Given the description of an element on the screen output the (x, y) to click on. 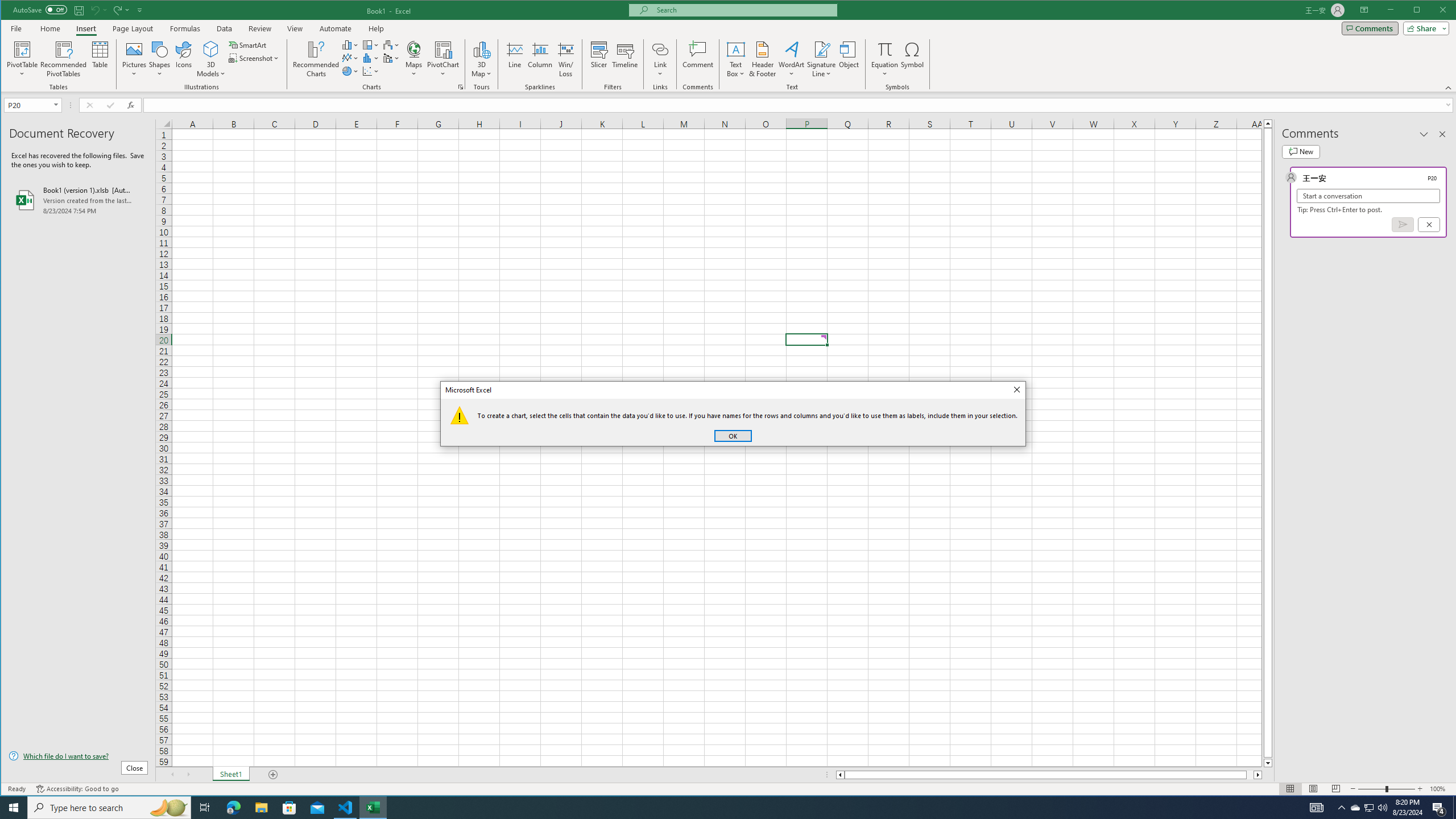
3D Models (211, 48)
Draw Horizontal Text Box (735, 48)
Home (50, 28)
Excel - 1 running window (373, 807)
Customize Quick Access Toolbar (140, 9)
AutomationID: 4105 (1316, 807)
3D Map (481, 48)
Quick Access Toolbar (79, 9)
